Given the description of an element on the screen output the (x, y) to click on. 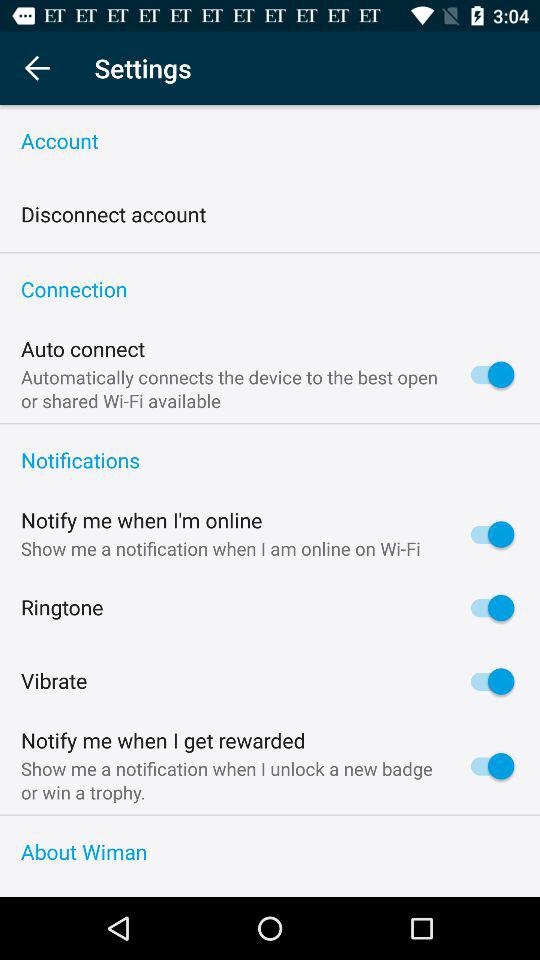
click item next to settings (36, 68)
